Given the description of an element on the screen output the (x, y) to click on. 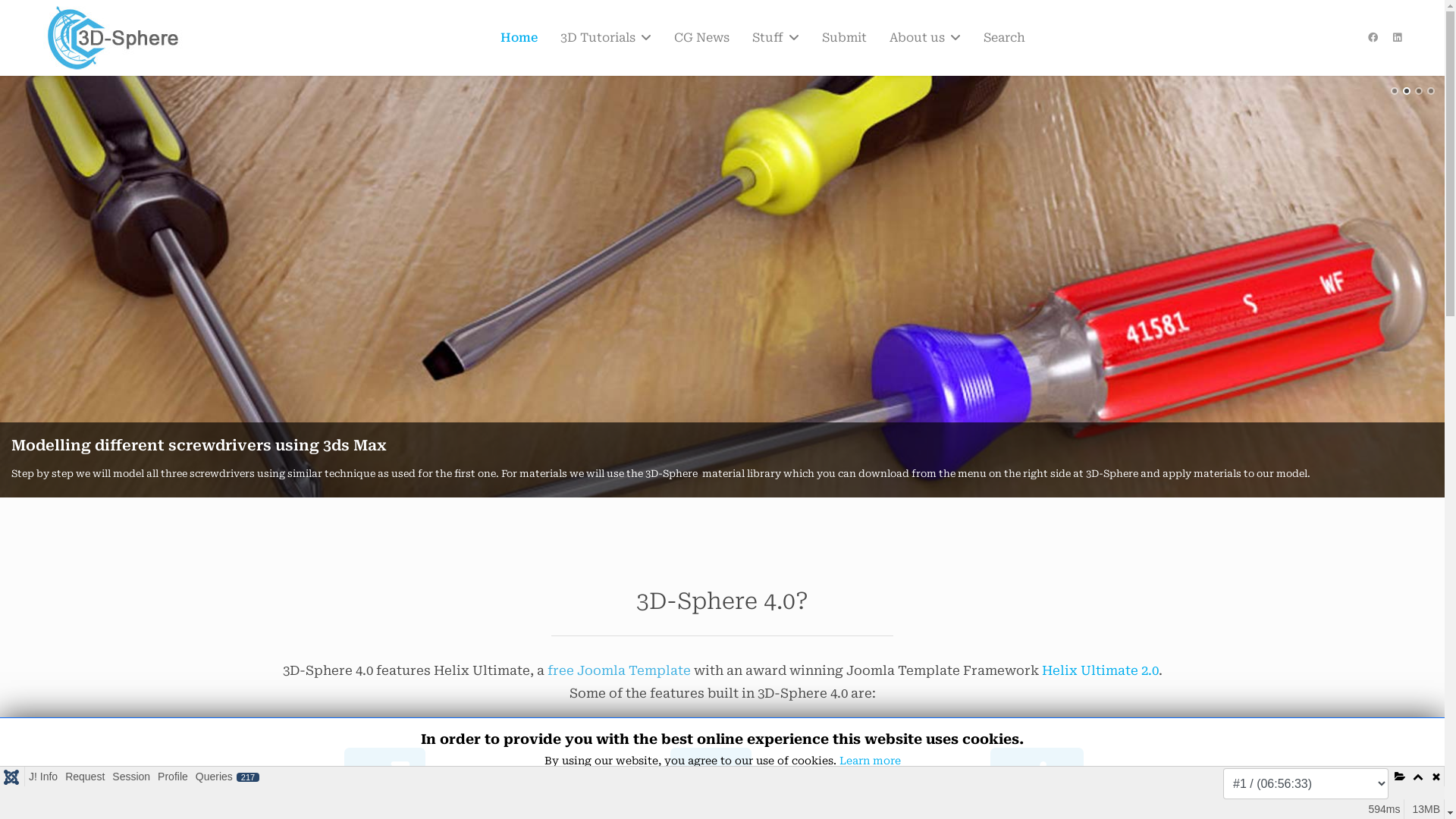
About us Element type: text (925, 37)
Learn more Element type: text (869, 760)
Stuff Element type: text (774, 37)
Queries217 Element type: text (227, 776)
3D Tutorials Element type: text (605, 37)
CG News Element type: text (701, 37)
Profile Element type: text (172, 776)
Search Element type: text (998, 37)
Request Element type: text (84, 776)
Modelling different screwdrivers using 3ds Max Element type: text (198, 445)
Home Element type: text (518, 37)
Helix Ultimate 2.0 Element type: text (1099, 669)
Session Element type: text (130, 776)
Submit Element type: text (843, 37)
J! Info Element type: text (43, 776)
